Given the description of an element on the screen output the (x, y) to click on. 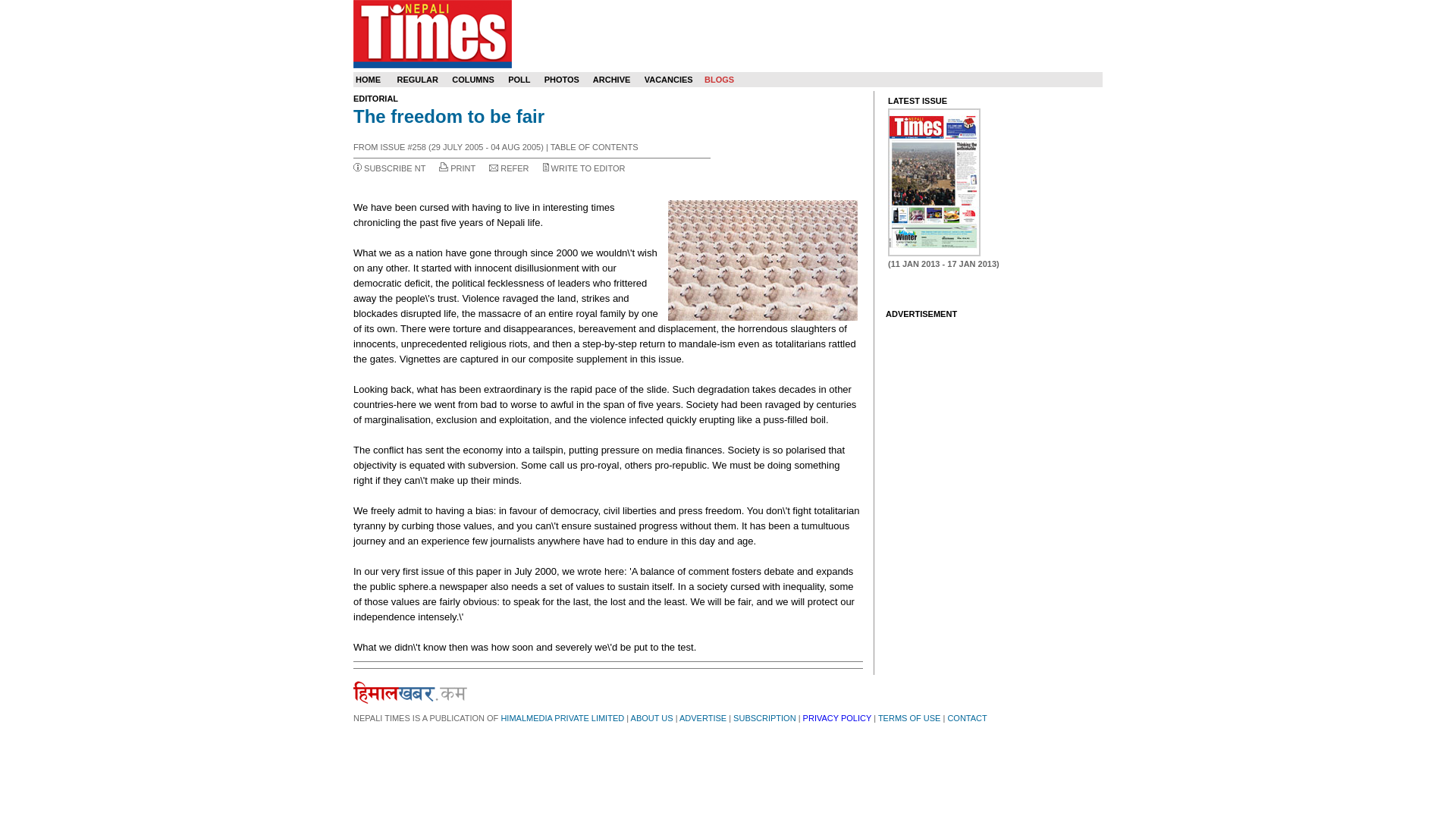
PRINT (463, 167)
TABLE OF CONTENTS (594, 146)
HOME (367, 79)
BLOGS (718, 79)
HIMALMEDIA PRIVATE LIMITED (562, 717)
COLUMNS (473, 79)
ARCHIVE (611, 79)
ADVERTISE (702, 717)
PRIVACY POLICY (836, 717)
WRITE TO EDITOR (588, 167)
